Given the description of an element on the screen output the (x, y) to click on. 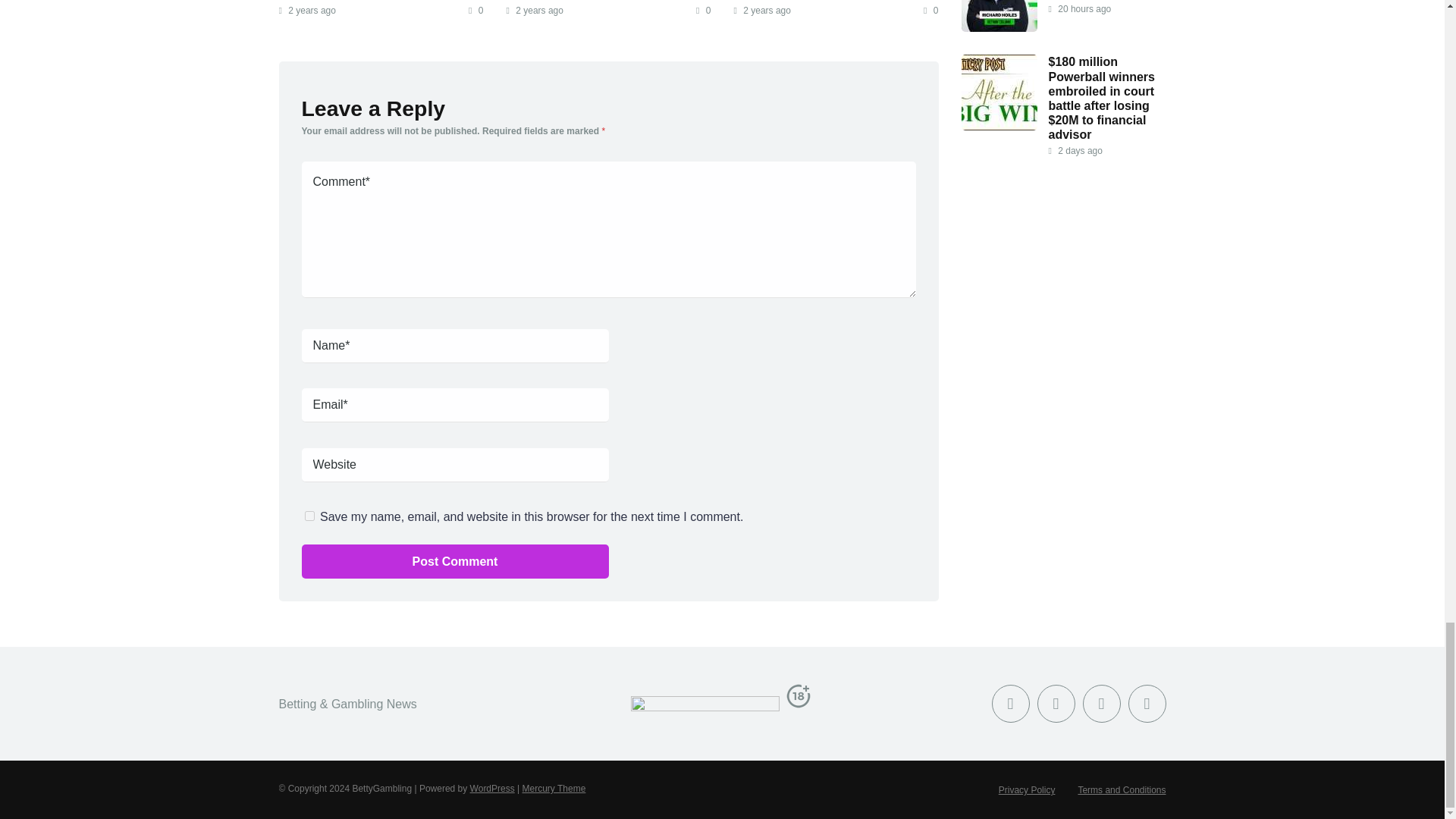
yes (309, 515)
Post Comment (454, 561)
Post Comment (454, 561)
